Given the description of an element on the screen output the (x, y) to click on. 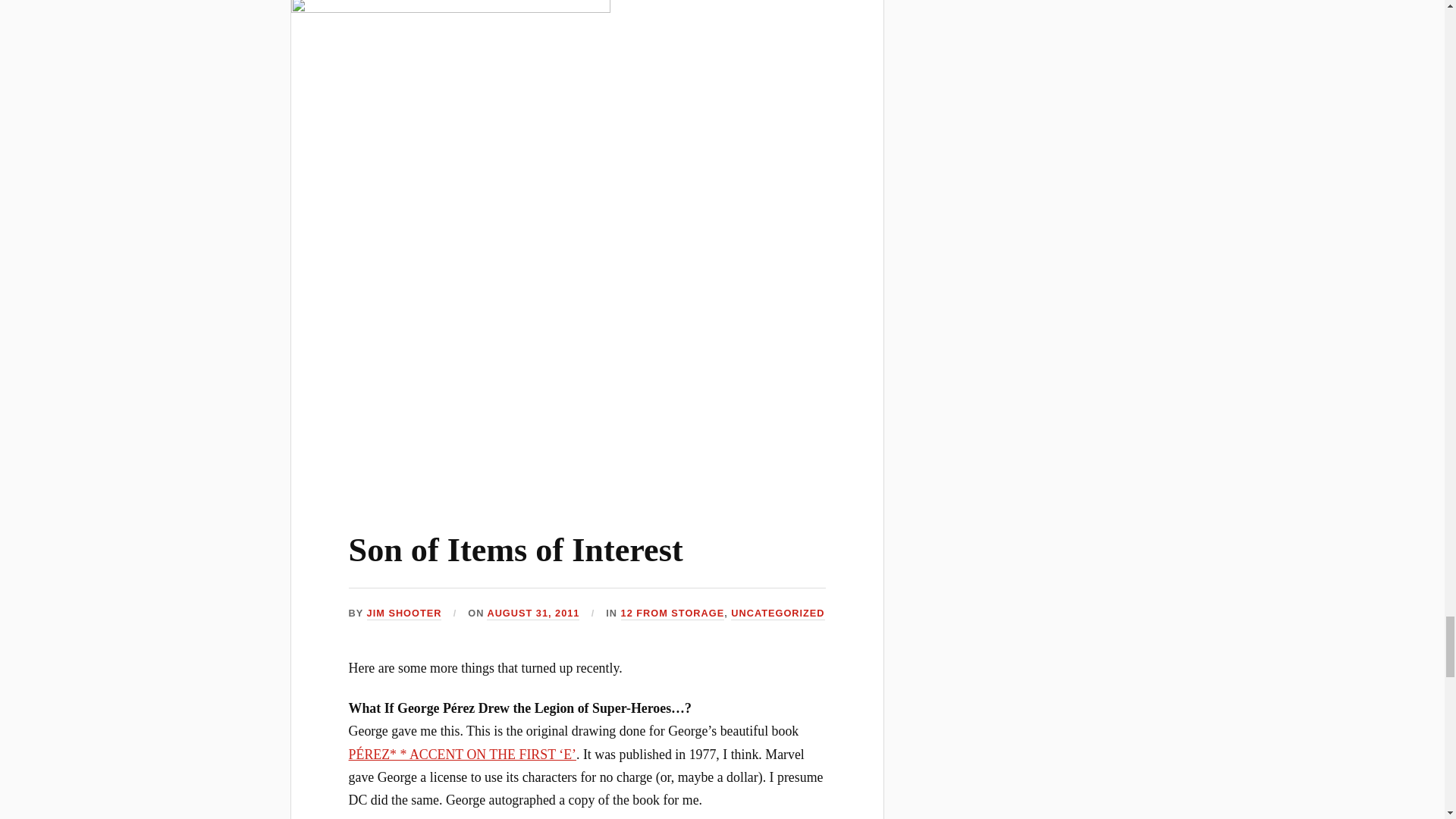
Posts by Jim Shooter (404, 613)
